Given the description of an element on the screen output the (x, y) to click on. 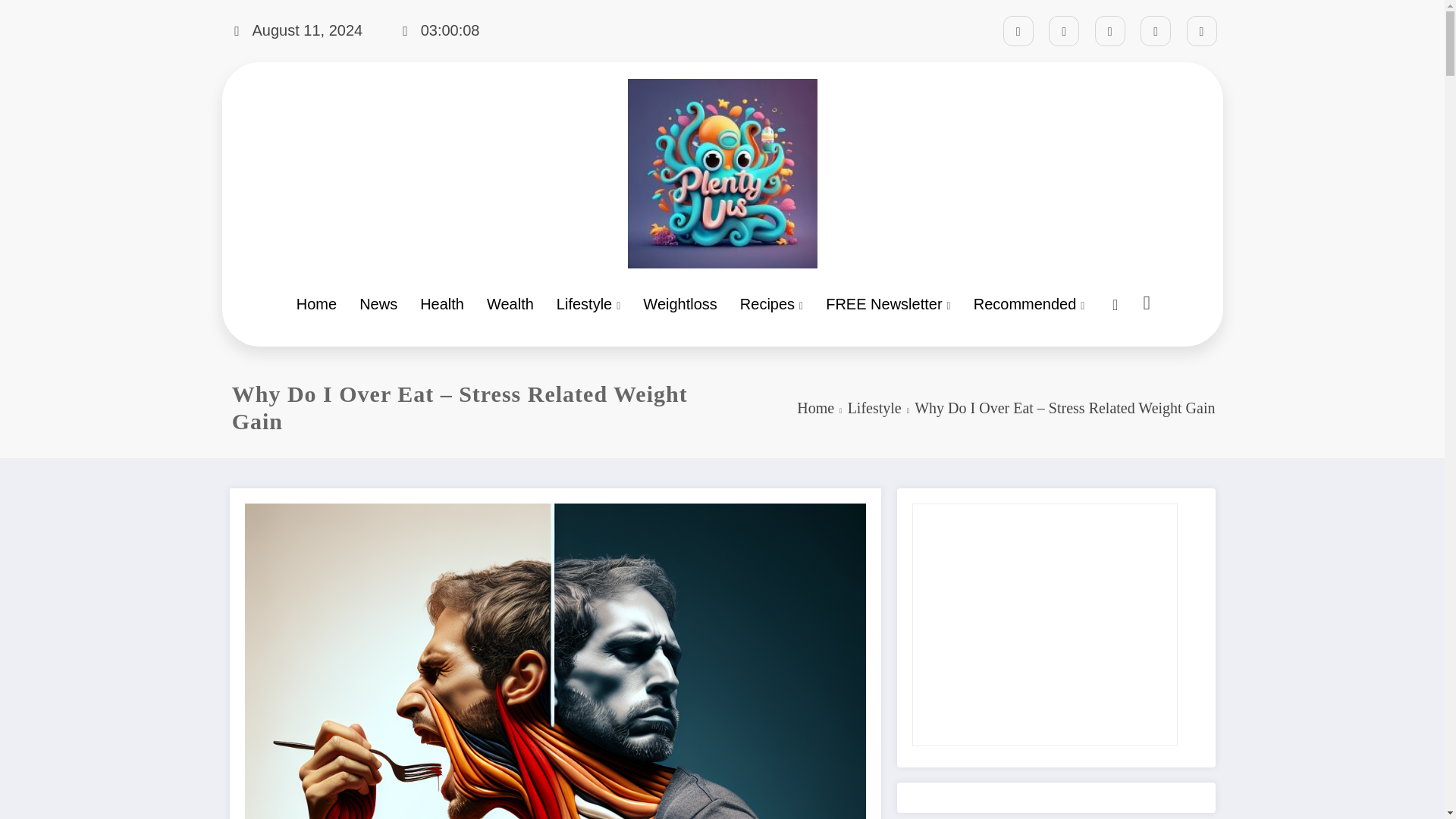
Home (815, 407)
Home (316, 304)
Weightloss (679, 304)
Health (442, 304)
Recommended (1029, 304)
dribbble (1109, 30)
Lifestyle (874, 407)
facebook-f (1018, 30)
instagram (1155, 30)
Wealth (510, 304)
